Given the description of an element on the screen output the (x, y) to click on. 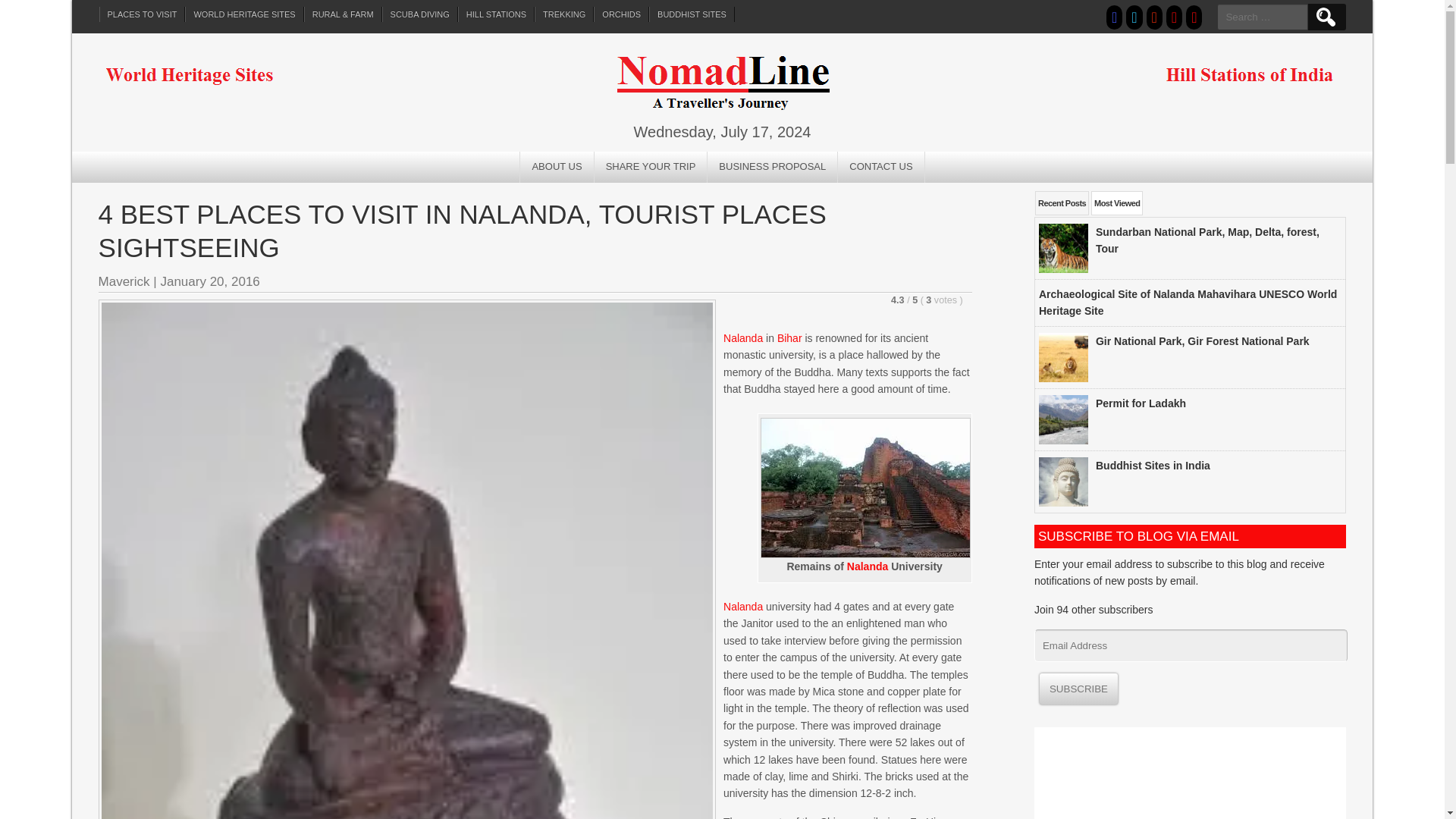
PLACES TO VISIT (142, 14)
Sundarban National Park, Map, Delta, forest, Tour (1207, 240)
Search (1324, 17)
Posts by Maverick (124, 281)
Search (1324, 17)
Buddhist Sites in India (1152, 465)
Gir National Park, Gir Forest National Park (1202, 340)
Advertisement (1189, 773)
Permit for Ladakh (1141, 403)
